Given the description of an element on the screen output the (x, y) to click on. 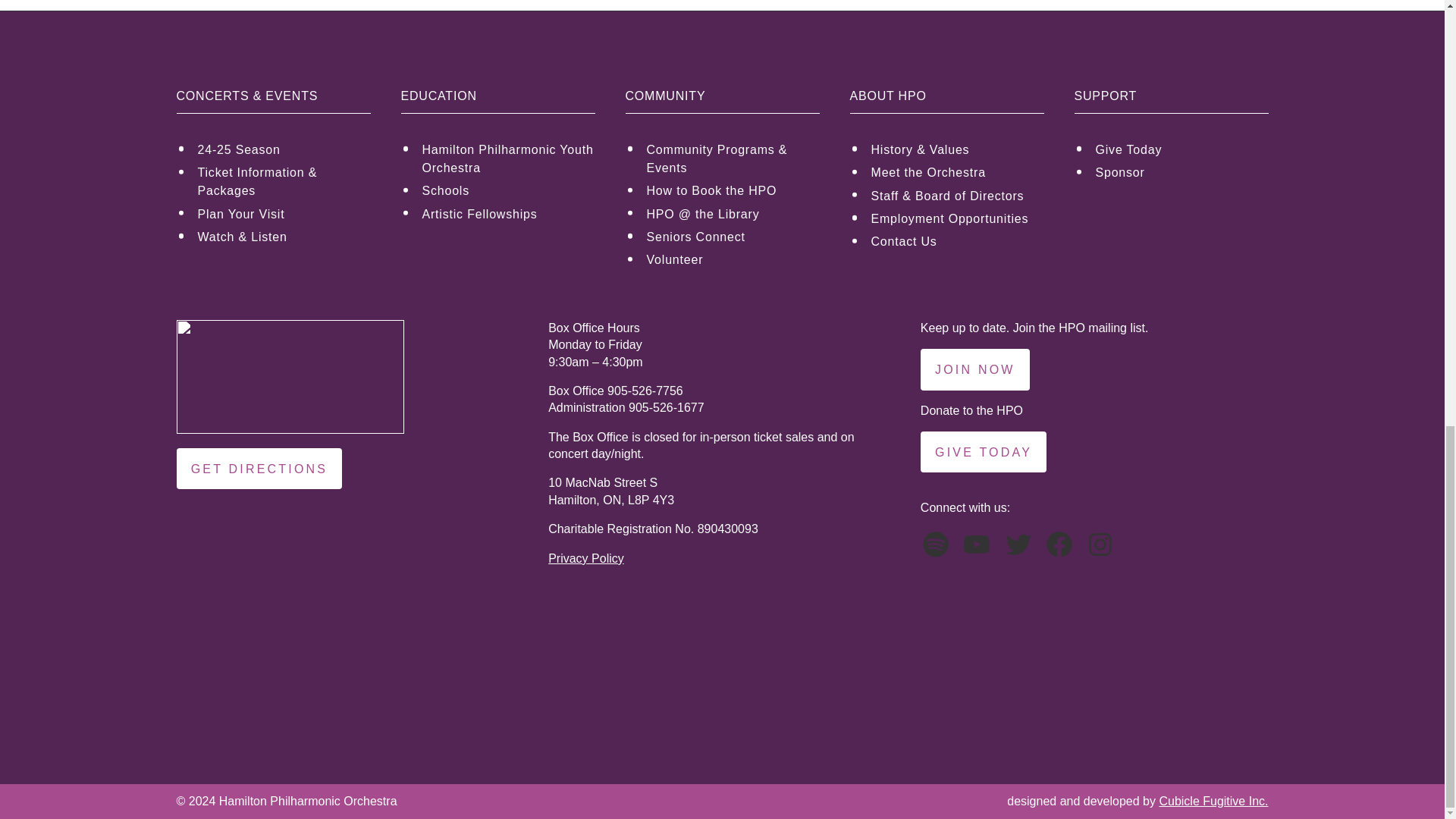
24-25 Season (282, 150)
Ontario Arts Council (861, 667)
Canada Council for the Arts (1142, 667)
City of Hamilton (581, 667)
Plan Your Visit (282, 215)
Incite Foundation for the Arts (301, 667)
